Given the description of an element on the screen output the (x, y) to click on. 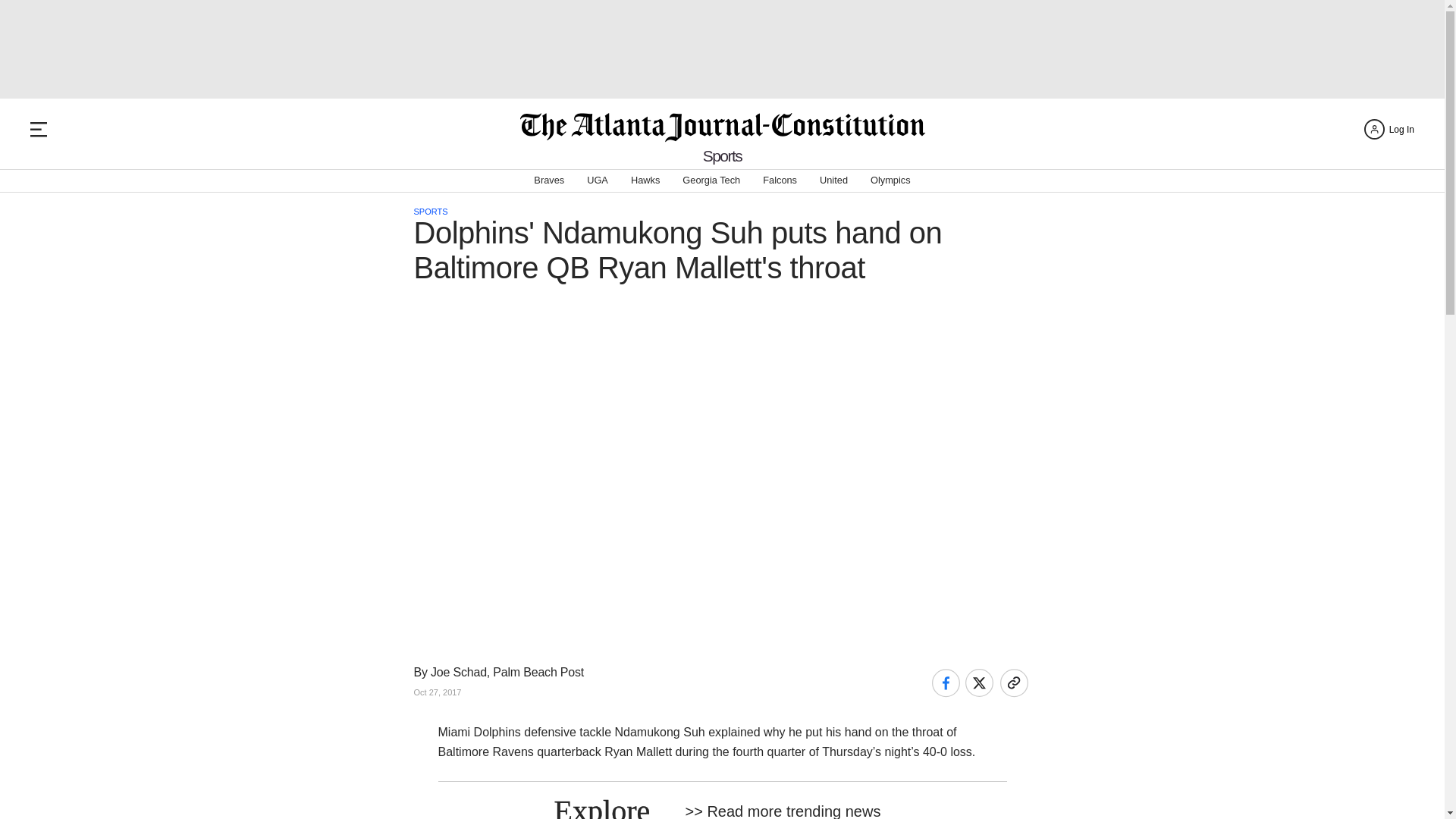
Braves (549, 180)
Georgia Tech (710, 180)
Olympics (890, 180)
Hawks (644, 180)
United (833, 180)
UGA (597, 180)
Sports (722, 155)
Falcons (779, 180)
